Given the description of an element on the screen output the (x, y) to click on. 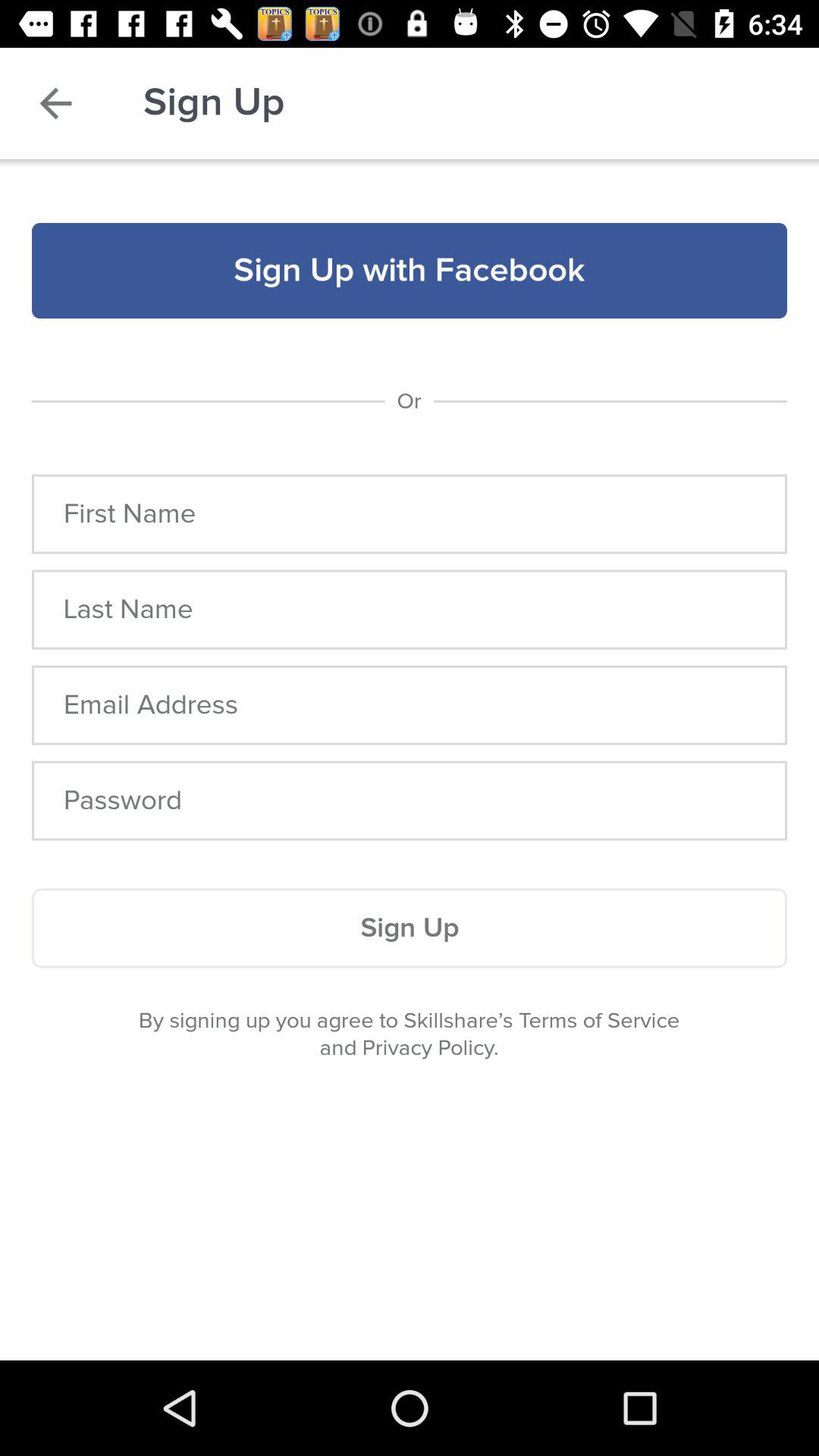
press item below the or item (409, 513)
